Given the description of an element on the screen output the (x, y) to click on. 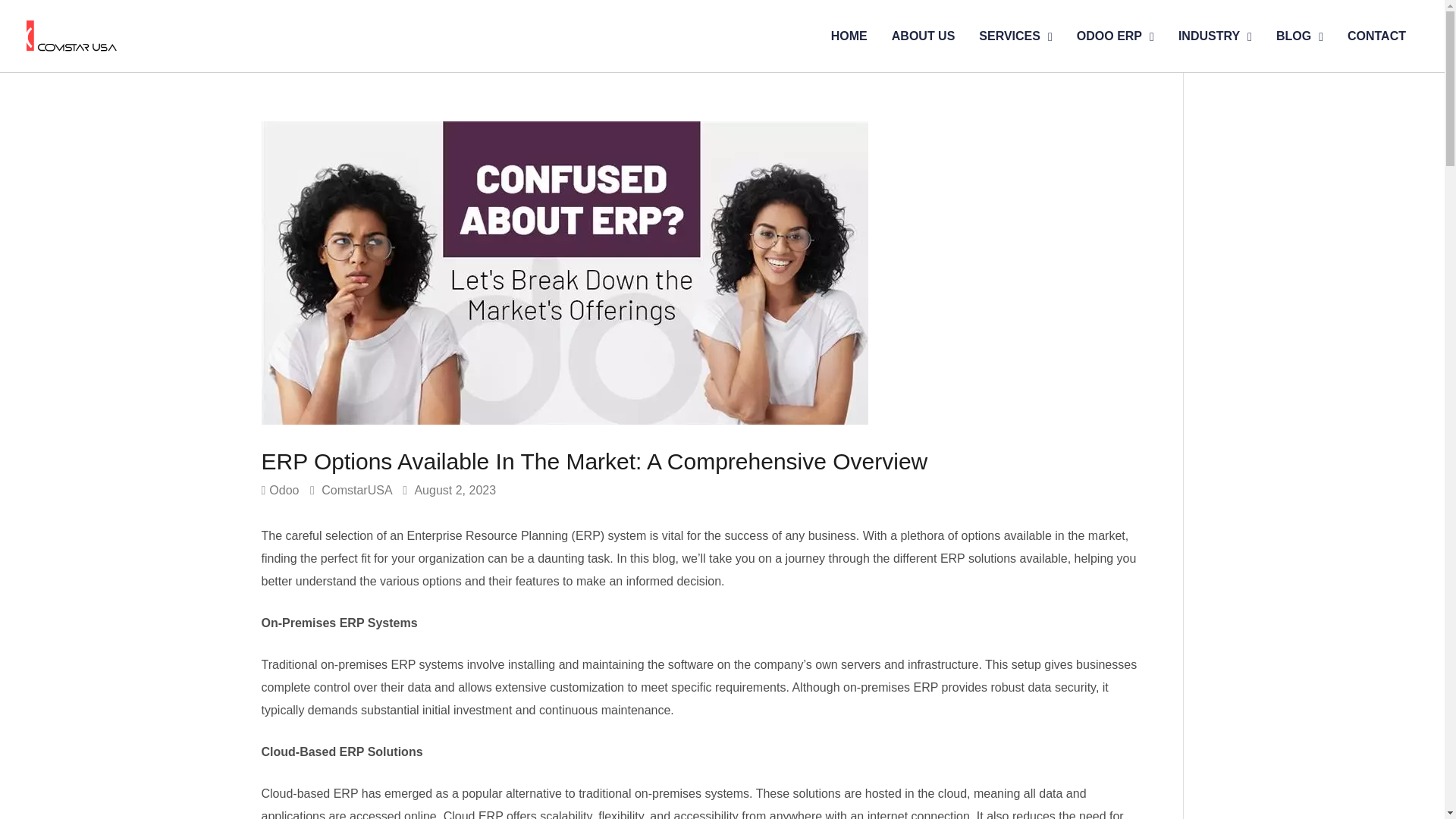
View all posts by ComstarUSA (357, 490)
ABOUT US (923, 35)
INDUSTRY (1214, 35)
ODOO ERP (1115, 35)
CONTACT (1376, 35)
HOME (848, 35)
BLOG (1299, 35)
comstar black logo (71, 35)
SERVICES (1015, 35)
